Given the description of an element on the screen output the (x, y) to click on. 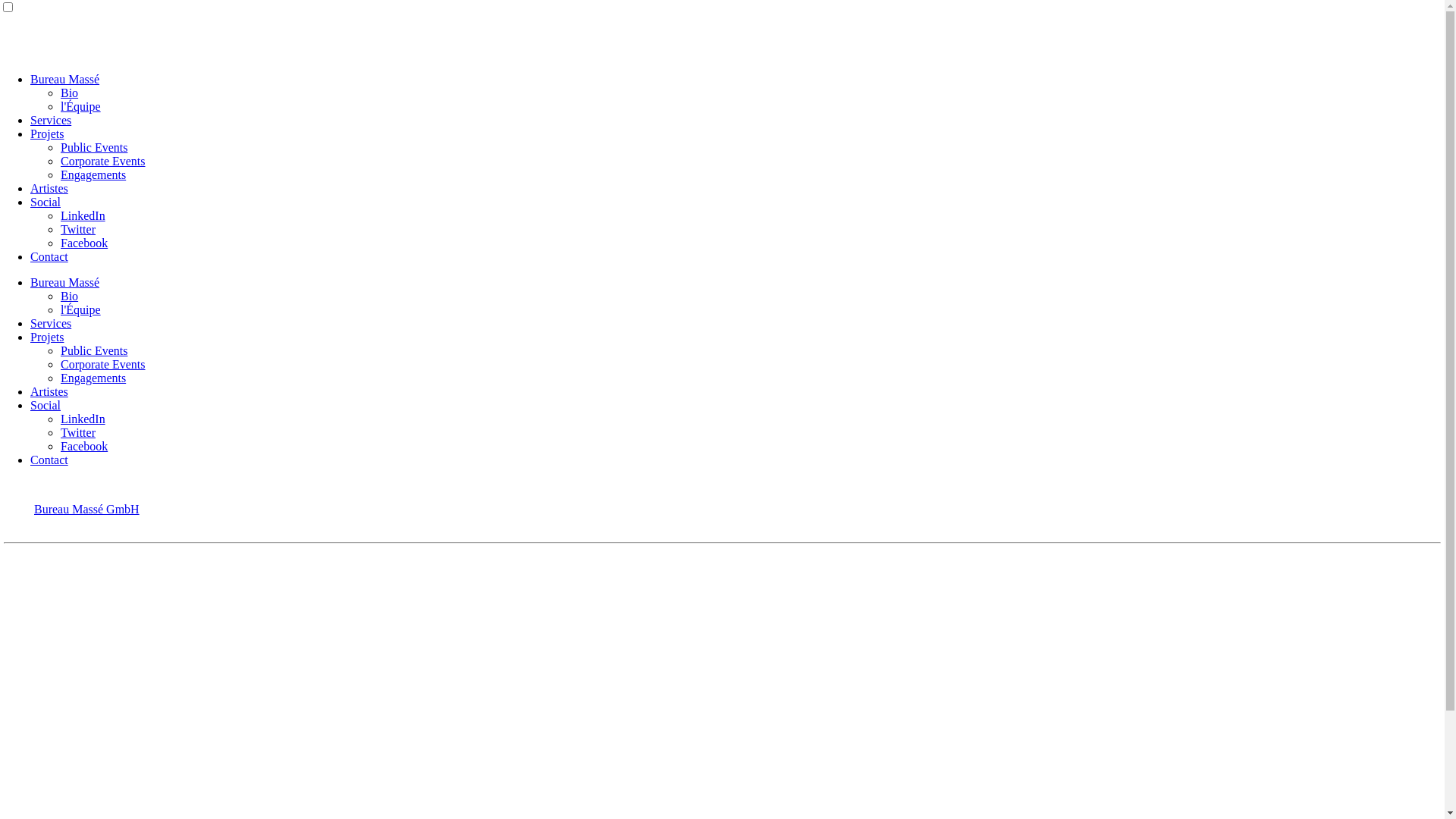
Engagements Element type: text (92, 174)
LinkedIn Element type: text (82, 215)
Projets Element type: text (46, 336)
Artistes Element type: text (49, 188)
Facebook Element type: text (83, 445)
Contact Element type: text (49, 256)
LinkedIn Element type: text (82, 418)
Public Events Element type: text (93, 147)
Bio Element type: text (69, 295)
Social Element type: text (45, 404)
Social Element type: text (45, 201)
Facebook Element type: text (83, 242)
Services Element type: text (50, 119)
Engagements Element type: text (92, 377)
Twitter Element type: text (77, 432)
Projets Element type: text (46, 133)
Twitter Element type: text (77, 228)
Services Element type: text (50, 322)
Corporate Events Element type: text (102, 160)
Bio Element type: text (69, 92)
Corporate Events Element type: text (102, 363)
Contact Element type: text (49, 459)
Artistes Element type: text (49, 391)
Public Events Element type: text (93, 350)
